Given the description of an element on the screen output the (x, y) to click on. 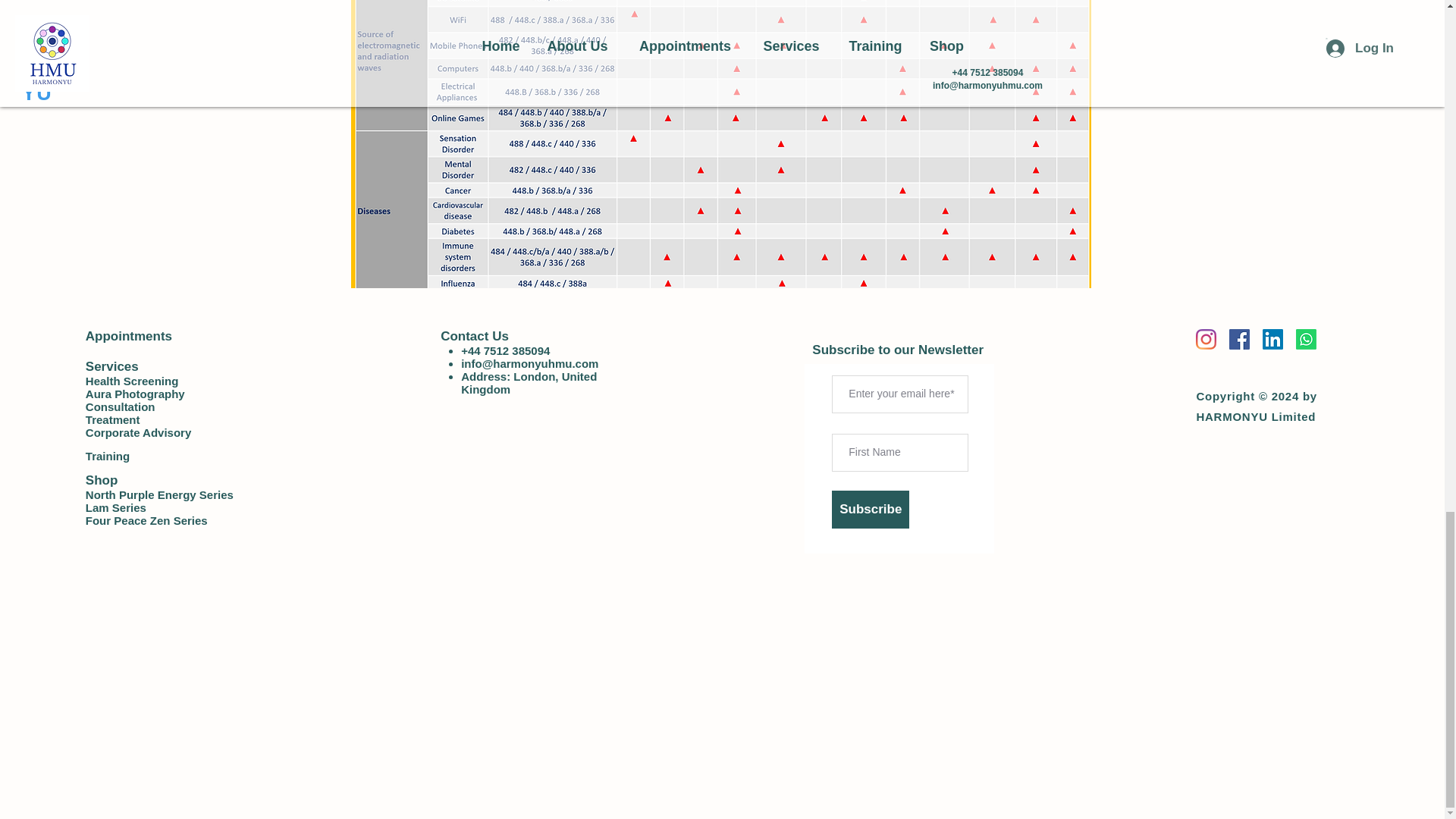
Corporate Advisory (137, 431)
Four Peace Zen Series (146, 520)
Consultation (120, 406)
Appointments (128, 336)
North Purple Energy Series (158, 494)
Training (107, 454)
Shop (101, 480)
Services (111, 366)
Health Screening (132, 380)
Lam Series (116, 506)
